Given the description of an element on the screen output the (x, y) to click on. 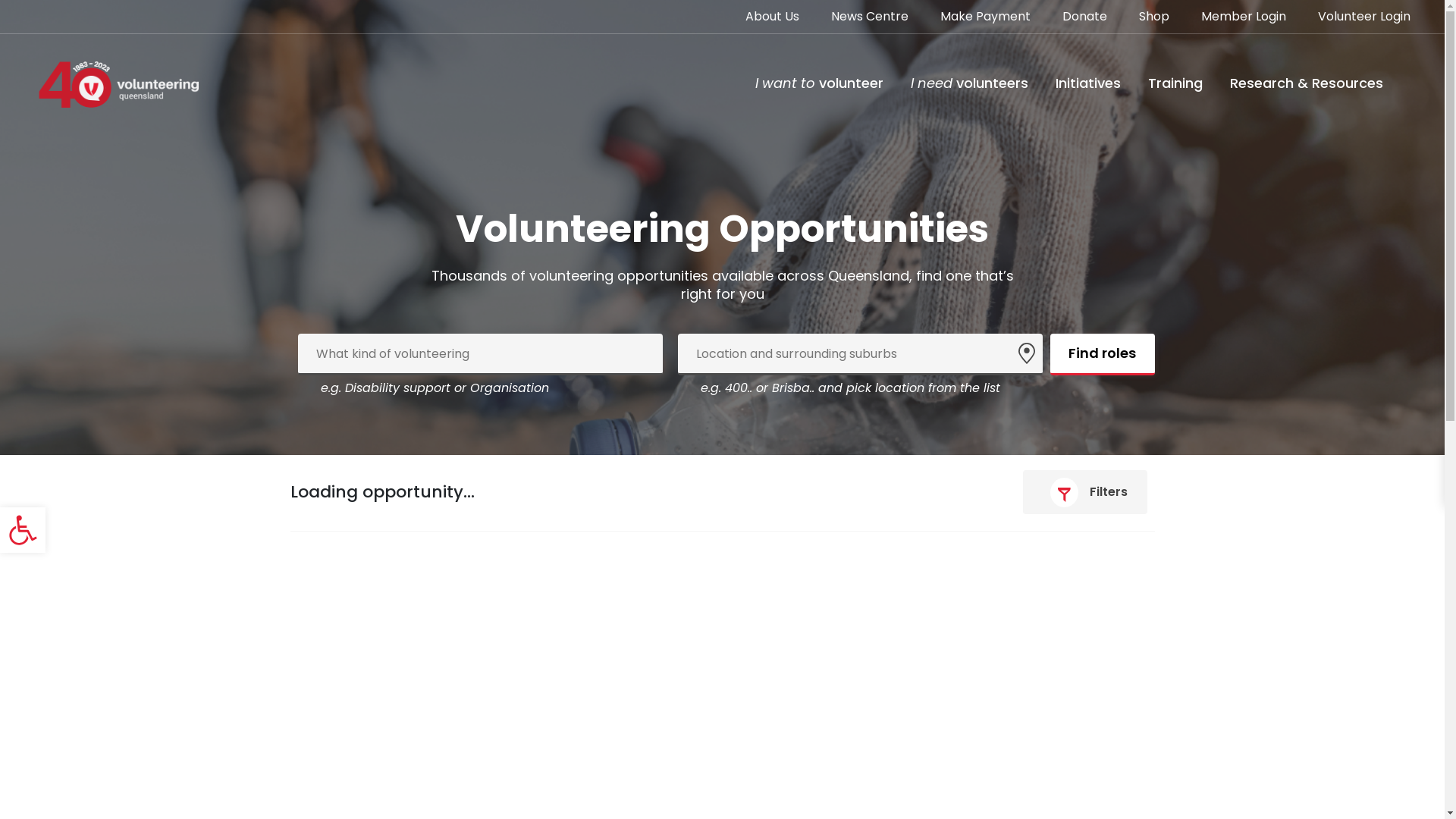
Member Login Element type: text (1243, 20)
Open toolbar
Accessibility Tools Element type: text (22, 529)
I want to volunteer Element type: text (819, 83)
About Us Element type: text (772, 20)
Find roles Element type: text (1101, 354)
Shop Element type: text (1154, 20)
Make Payment Element type: text (985, 20)
News Centre Element type: text (869, 20)
Donate Element type: text (1084, 20)
I need volunteers Element type: text (969, 83)
Research & Resources Element type: text (1306, 83)
Training Element type: text (1175, 83)
Volunteer Login Element type: text (1363, 20)
Initiatives Element type: text (1087, 83)
